Given the description of an element on the screen output the (x, y) to click on. 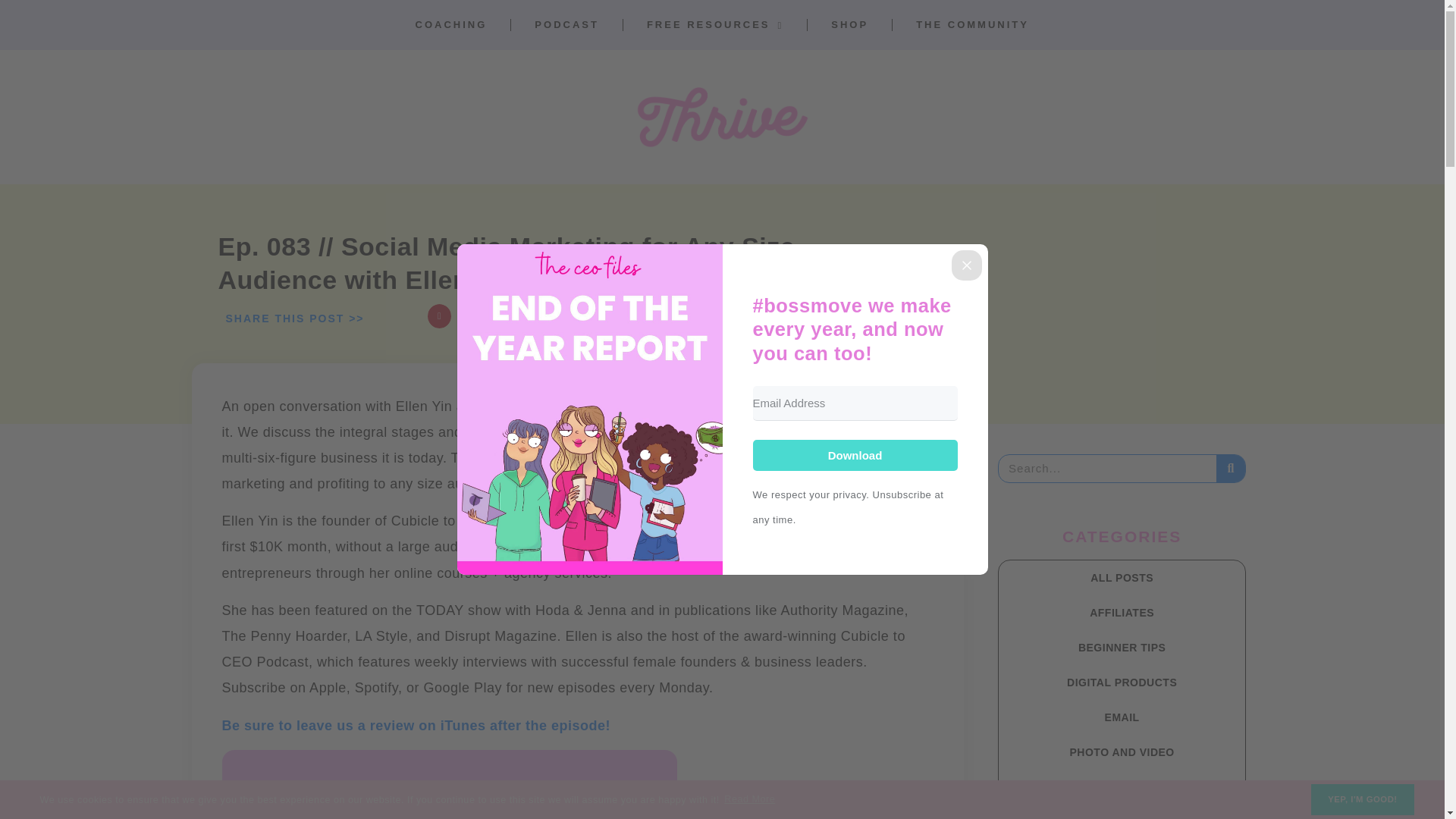
COACHING (451, 24)
Read More (749, 800)
PODCAST (566, 24)
THE COMMUNITY (972, 24)
YEP, I'M GOOD! (1362, 798)
SHOP (849, 24)
FREE RESOURCES (714, 24)
Be sure to leave us a review on iTunes after the episode! (415, 725)
